Given the description of an element on the screen output the (x, y) to click on. 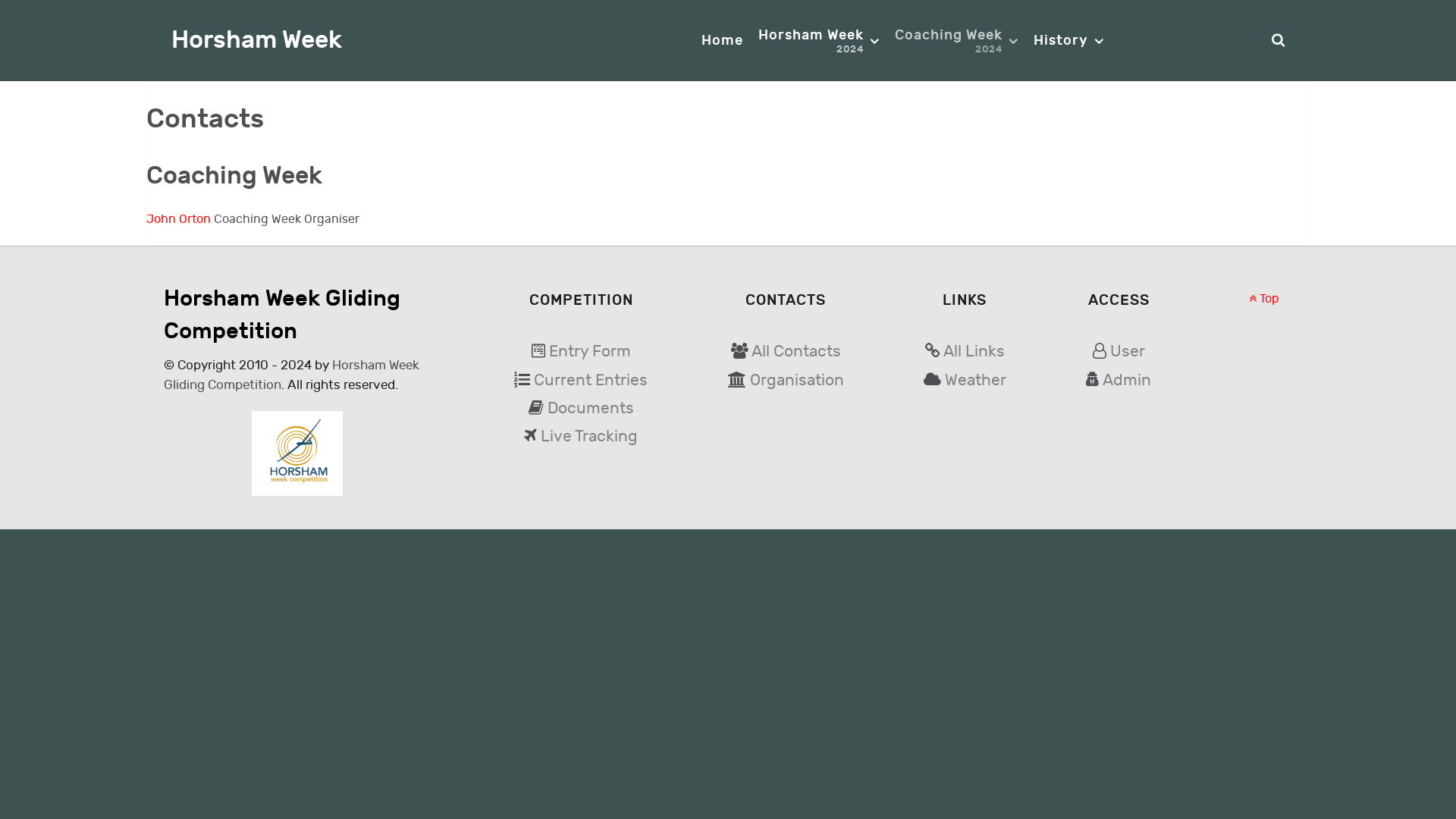
Top Element type: text (1263, 298)
User Element type: text (1127, 351)
Organisation Element type: text (796, 379)
All Contacts Element type: text (795, 351)
Live Tracking Element type: text (588, 435)
Entry Form Element type: text (589, 351)
All Links Element type: text (973, 351)
Admin Element type: text (1126, 379)
Current Entries Element type: text (590, 379)
Documents Element type: text (590, 407)
John Orton Element type: text (179, 219)
Weather Element type: text (975, 379)
Horsham Week Gliding Competition Element type: text (291, 374)
Horsham Week Element type: text (256, 40)
Home Element type: text (722, 39)
